Given the description of an element on the screen output the (x, y) to click on. 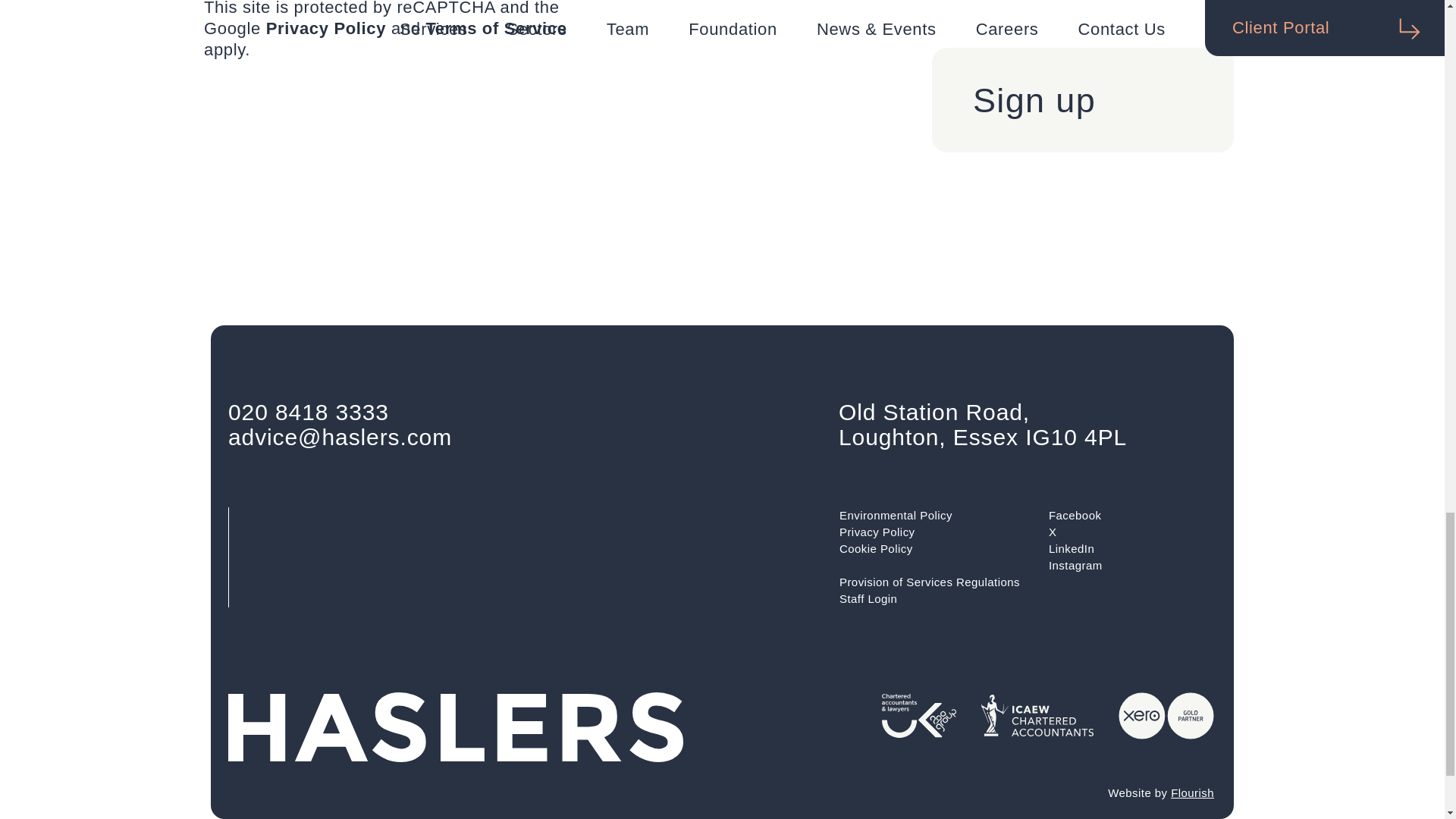
Sign up (1082, 99)
Terms of Service (495, 27)
Privacy Policy (325, 27)
